Given the description of an element on the screen output the (x, y) to click on. 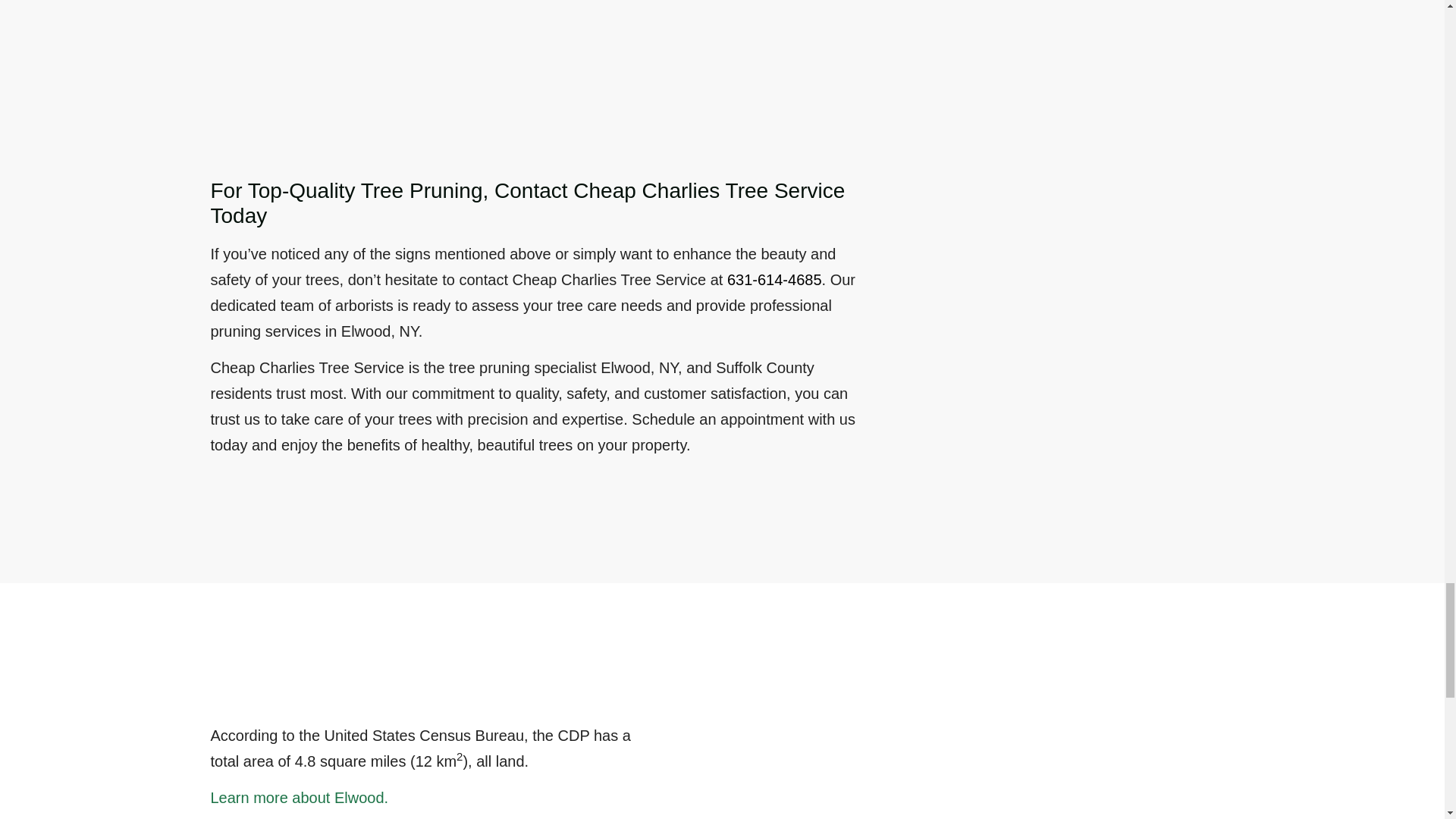
631-614-4685 (774, 279)
Learn more about Elwood. (299, 797)
